Given the description of an element on the screen output the (x, y) to click on. 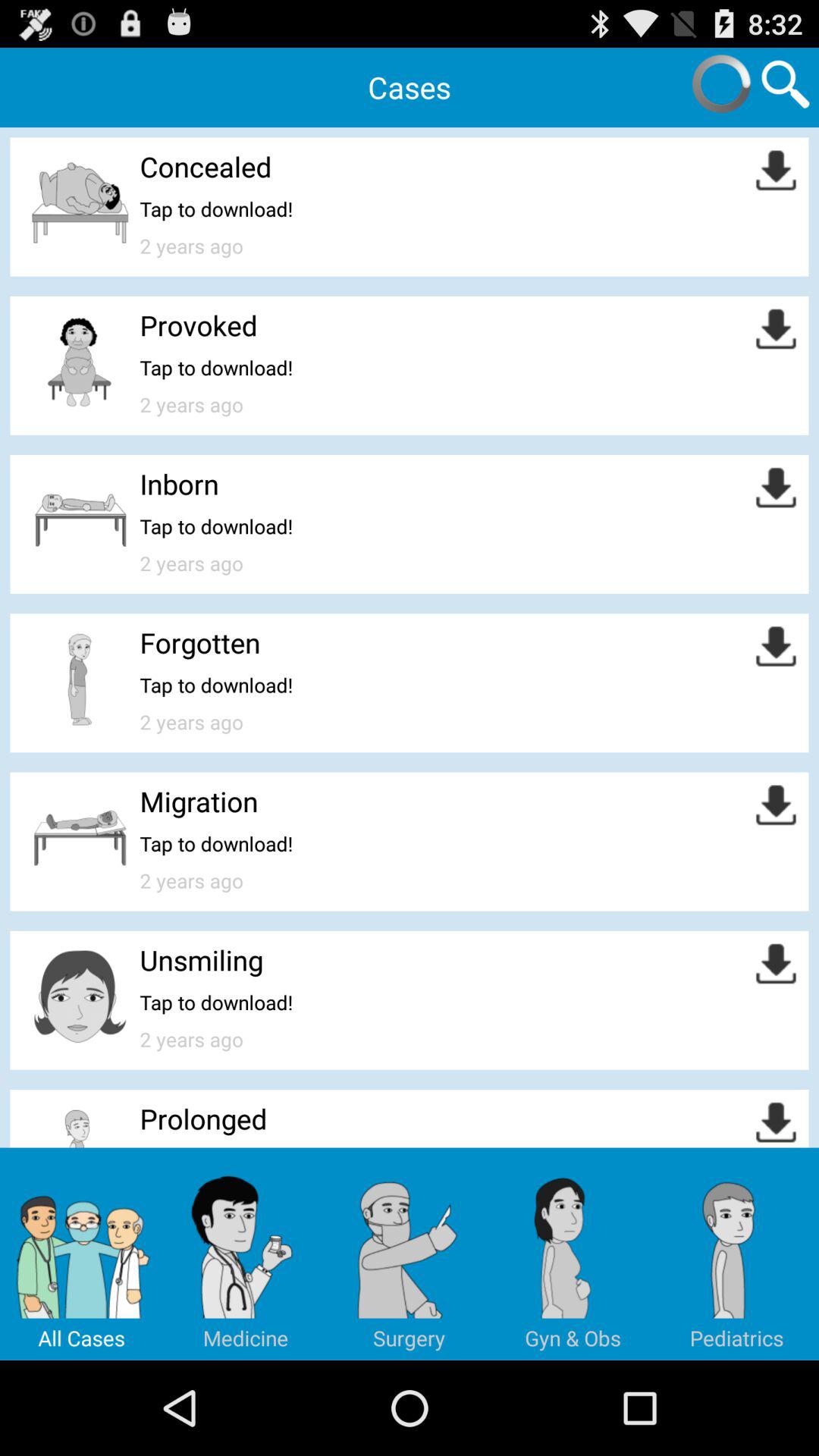
scroll until unsmiling icon (201, 959)
